Given the description of an element on the screen output the (x, y) to click on. 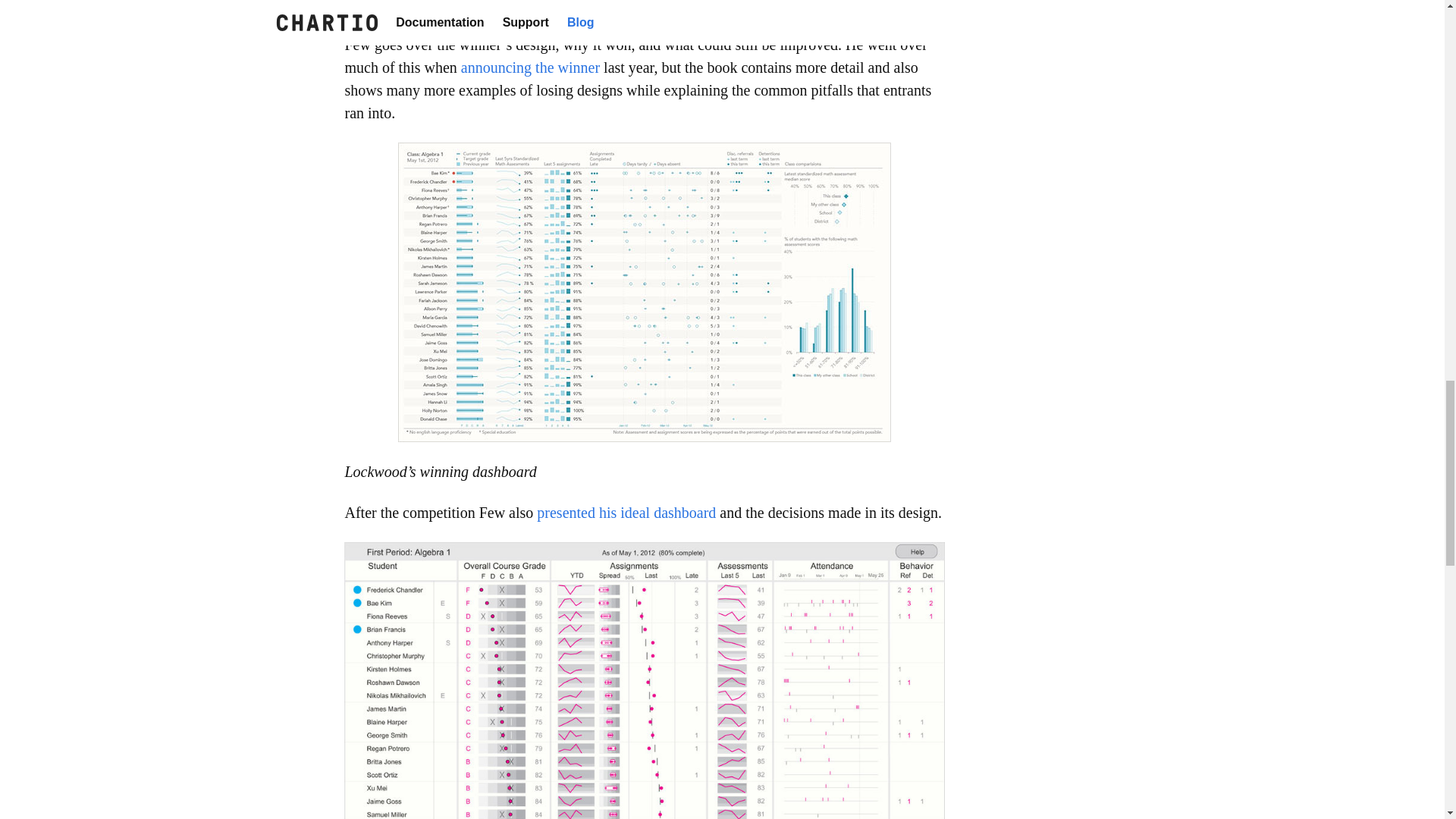
presented his ideal dashboard (626, 512)
announcing the winner (530, 67)
